Given the description of an element on the screen output the (x, y) to click on. 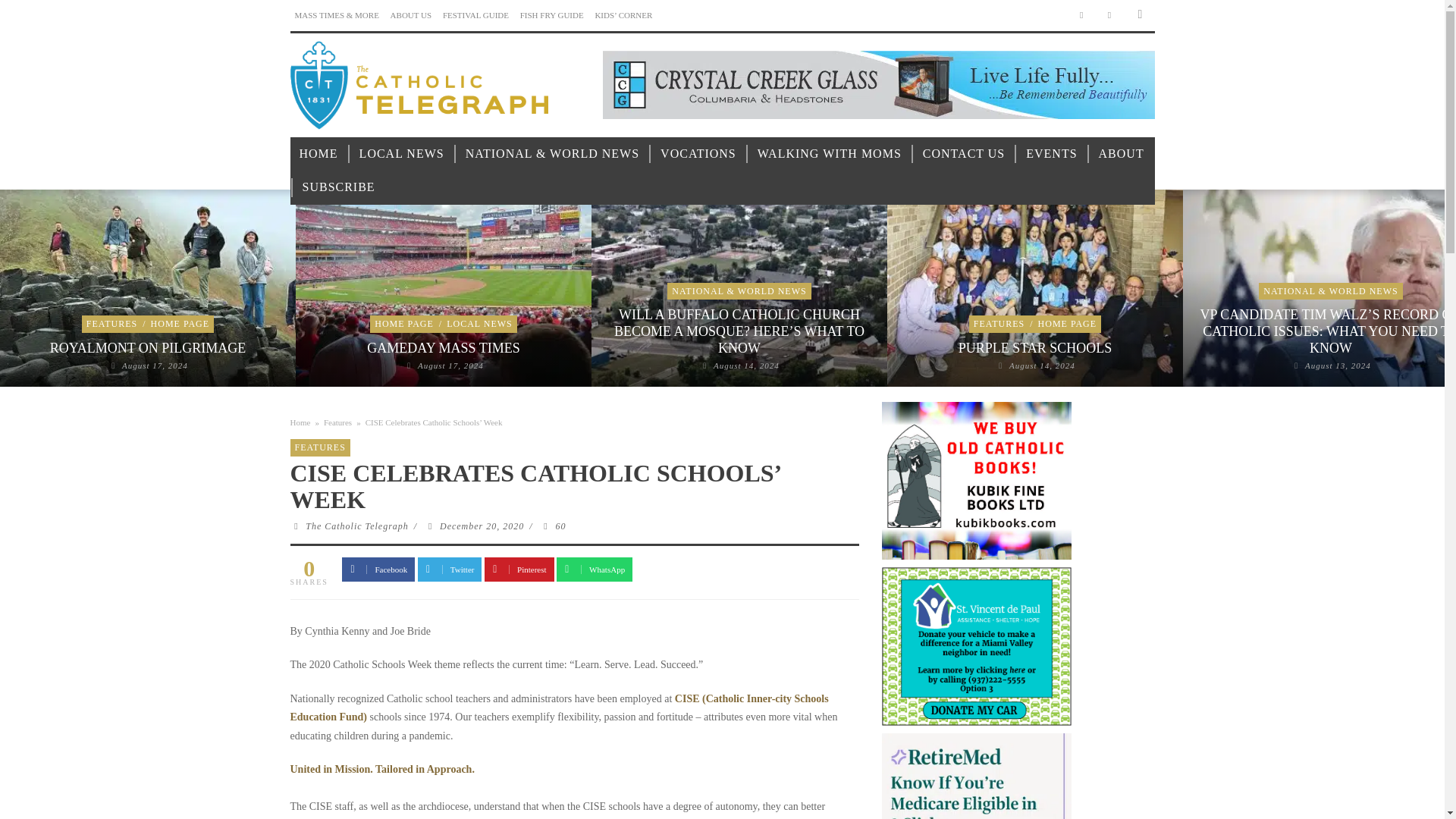
FESTIVAL GUIDE (475, 15)
View all posts in Home Page (180, 323)
View all posts in Local News (479, 323)
Permalink to Gameday Mass Times (450, 365)
Facebook (1081, 15)
CONTACT US (963, 154)
Permalink to Gameday Mass Times (442, 347)
ABOUT (1121, 154)
LOCAL NEWS (401, 154)
VOCATIONS (697, 154)
